Given the description of an element on the screen output the (x, y) to click on. 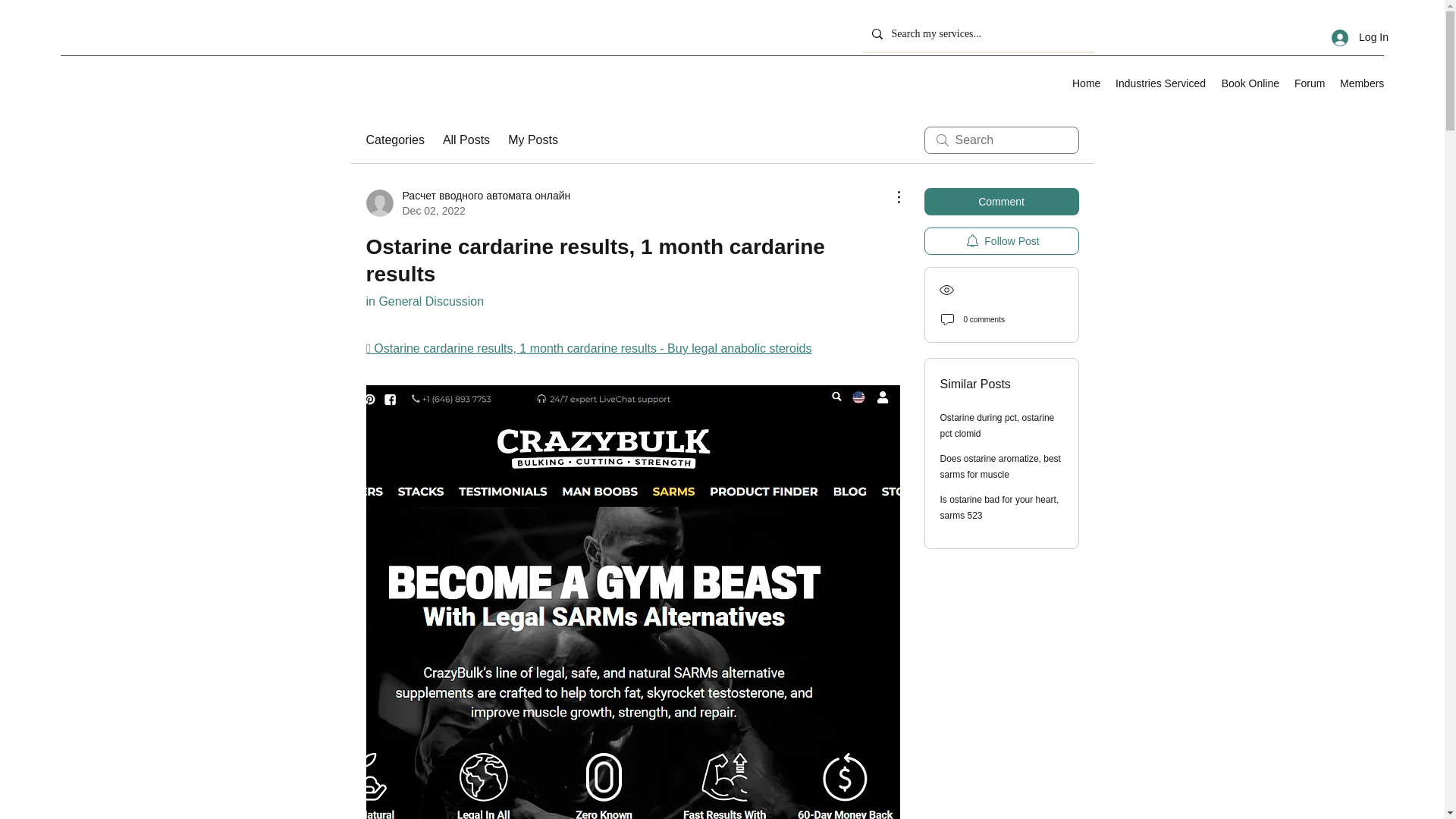
All Posts (465, 140)
Home (1086, 83)
Book Online (1249, 83)
Forum (1309, 83)
in General Discussion (424, 300)
Log In (1359, 37)
My Posts (532, 140)
Categories (394, 140)
Members (1361, 83)
